Given the description of an element on the screen output the (x, y) to click on. 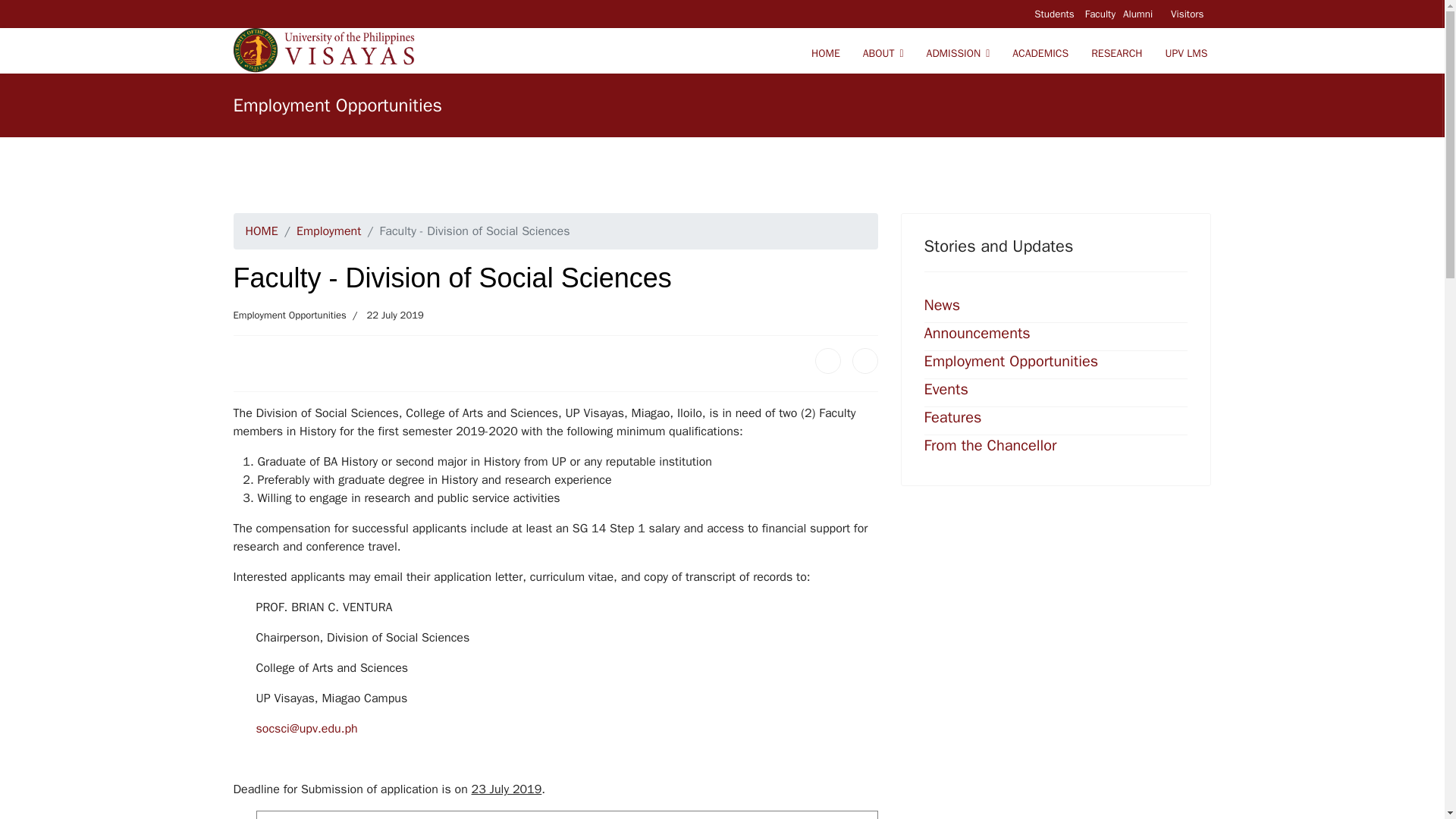
ACADEMICS (1040, 53)
Announcements (976, 333)
Published: 22 July 2019 (384, 314)
ABOUT (883, 53)
UPV LMS (1181, 53)
Facebook (828, 360)
Visitors (1187, 13)
HOME (262, 231)
News (941, 304)
Students (1055, 13)
Events (945, 389)
Employment Opportunities (289, 314)
Category: Employment Opportunities (289, 314)
Features (952, 416)
HOME (825, 53)
